Given the description of an element on the screen output the (x, y) to click on. 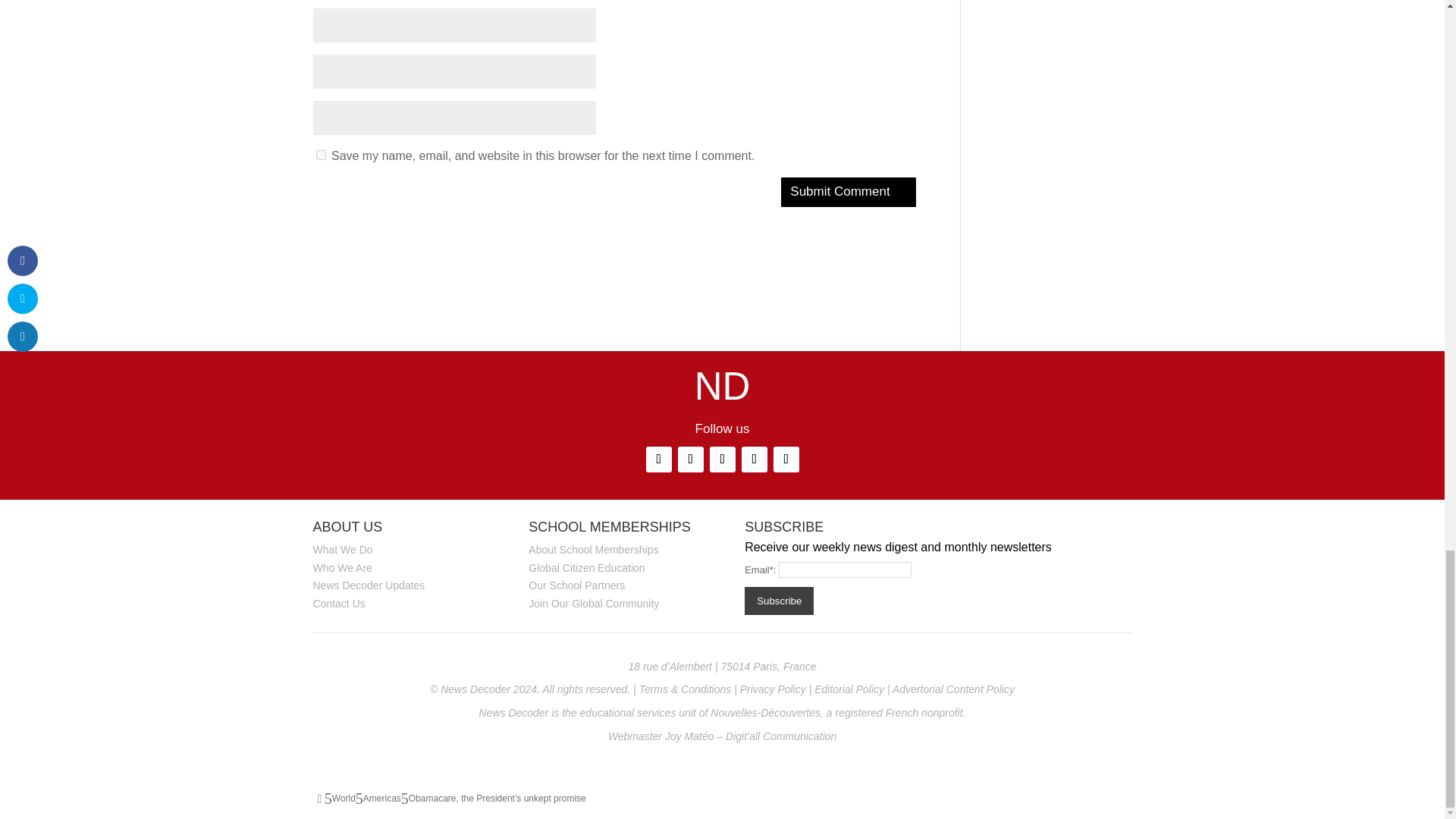
Follow on Youtube (786, 459)
Submit Comment (847, 192)
Follow on X (754, 459)
Follow on Instagram (690, 459)
Follow on LinkedIn (658, 459)
yes (319, 154)
Follow on Facebook (722, 459)
